Given the description of an element on the screen output the (x, y) to click on. 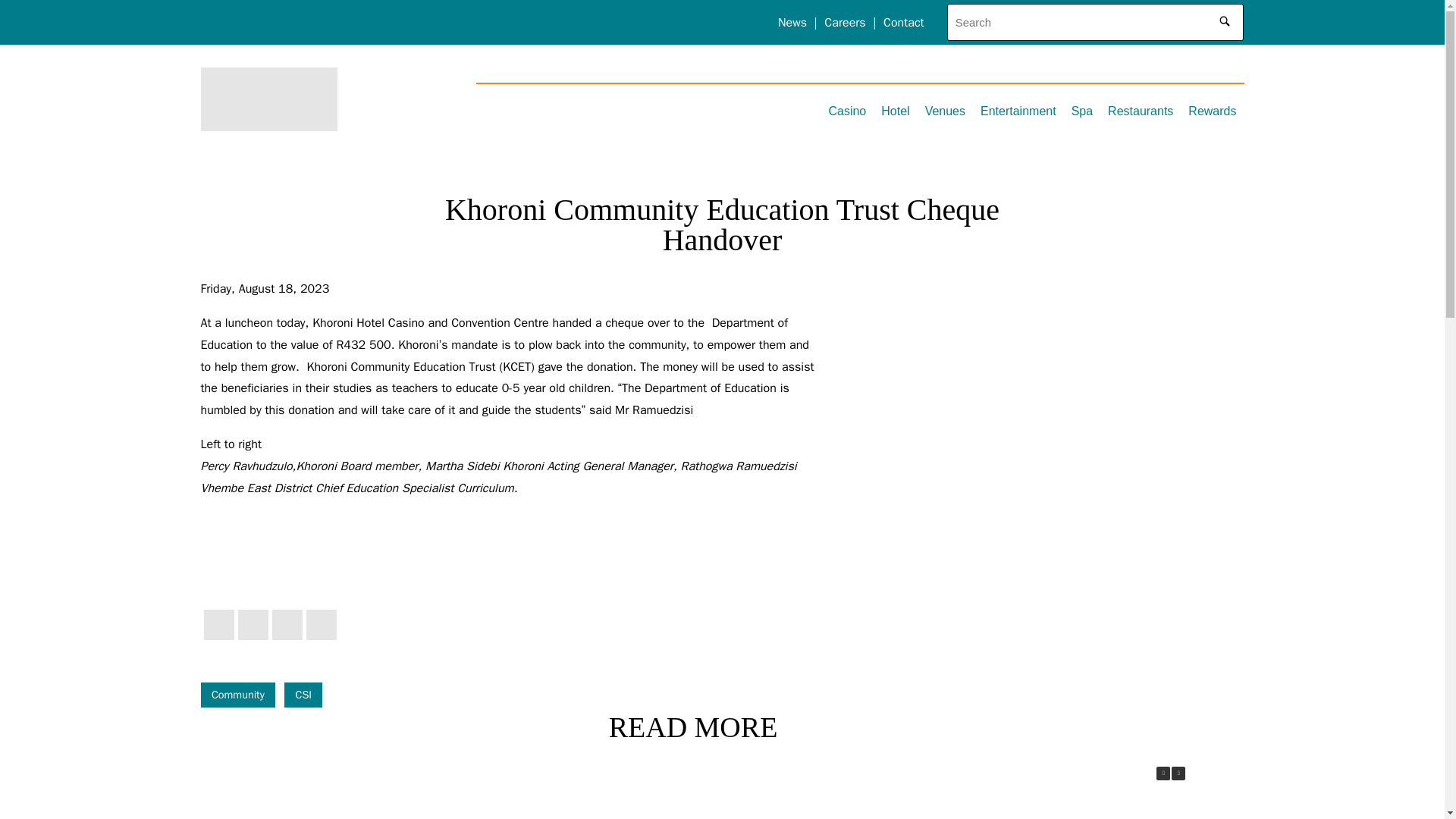
LinkedIn (285, 624)
Entertainment (1018, 107)
Hotel (895, 107)
Restaurants (1140, 107)
Rewards (1211, 107)
Twitter (252, 624)
Venues (944, 107)
Press Room (258, 154)
Facebook (217, 624)
WhatsApp (320, 624)
News (791, 22)
Spa (1082, 107)
Previous (1163, 773)
Contact (903, 22)
Next (1178, 773)
